Given the description of an element on the screen output the (x, y) to click on. 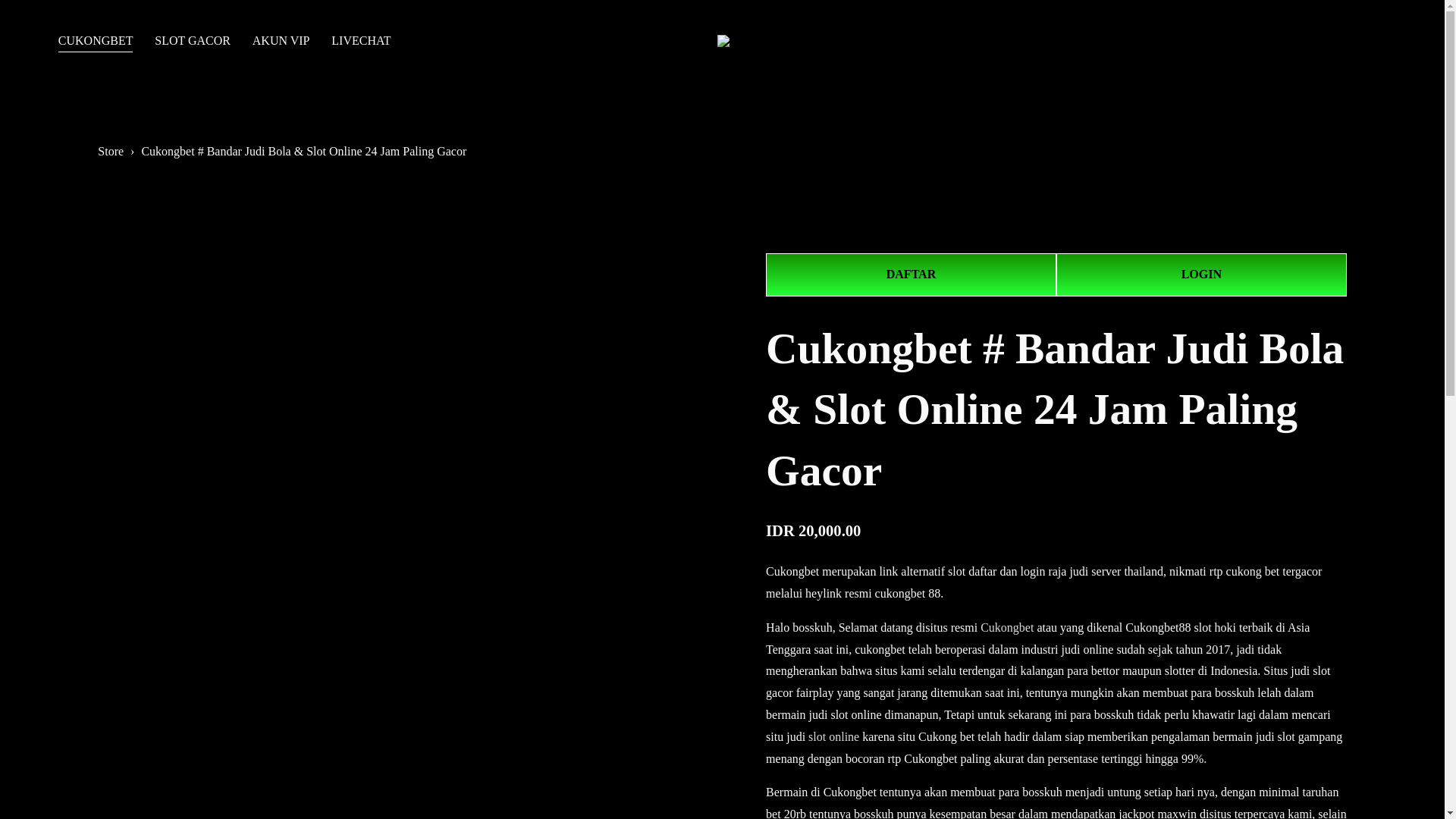
slot online (833, 736)
Cukongbet (1006, 626)
AKUN VIP (280, 40)
DAFTAR (911, 274)
CUKONGBET (95, 40)
LOGIN (1201, 274)
SLOT GACOR (192, 40)
Store (110, 151)
LIVECHAT (360, 40)
